Given the description of an element on the screen output the (x, y) to click on. 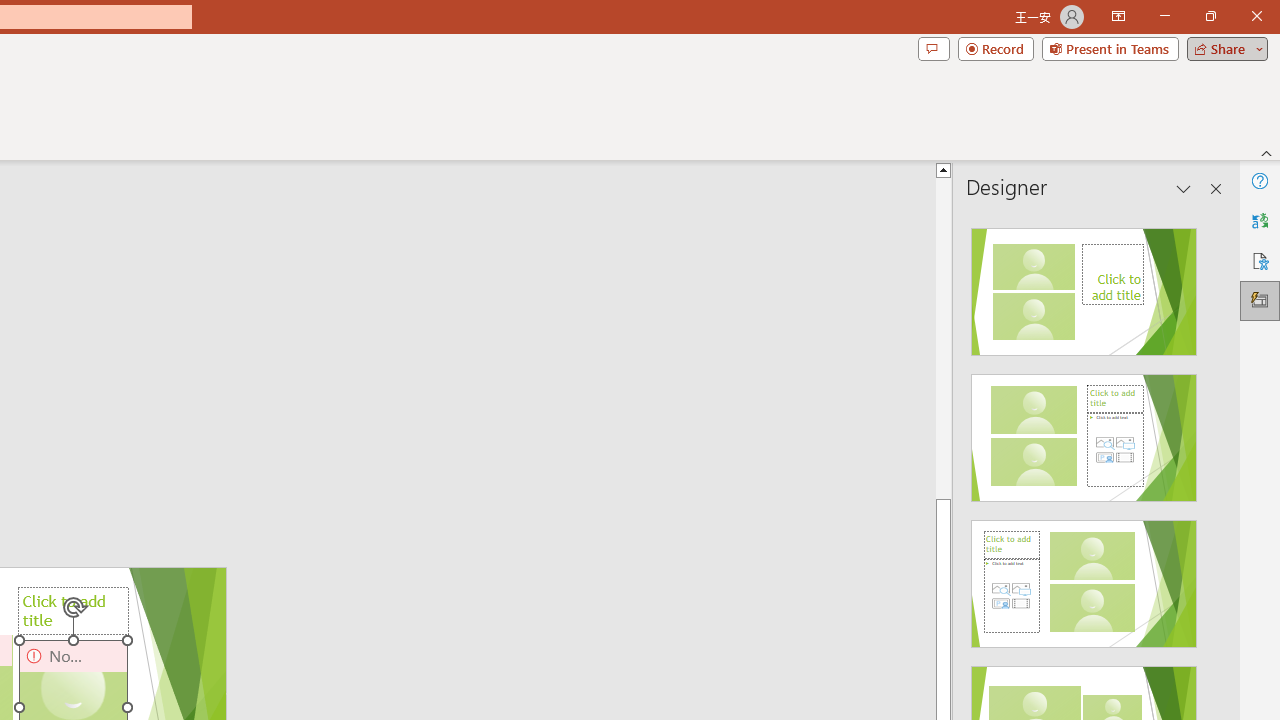
Design Idea (1083, 577)
